Given the description of an element on the screen output the (x, y) to click on. 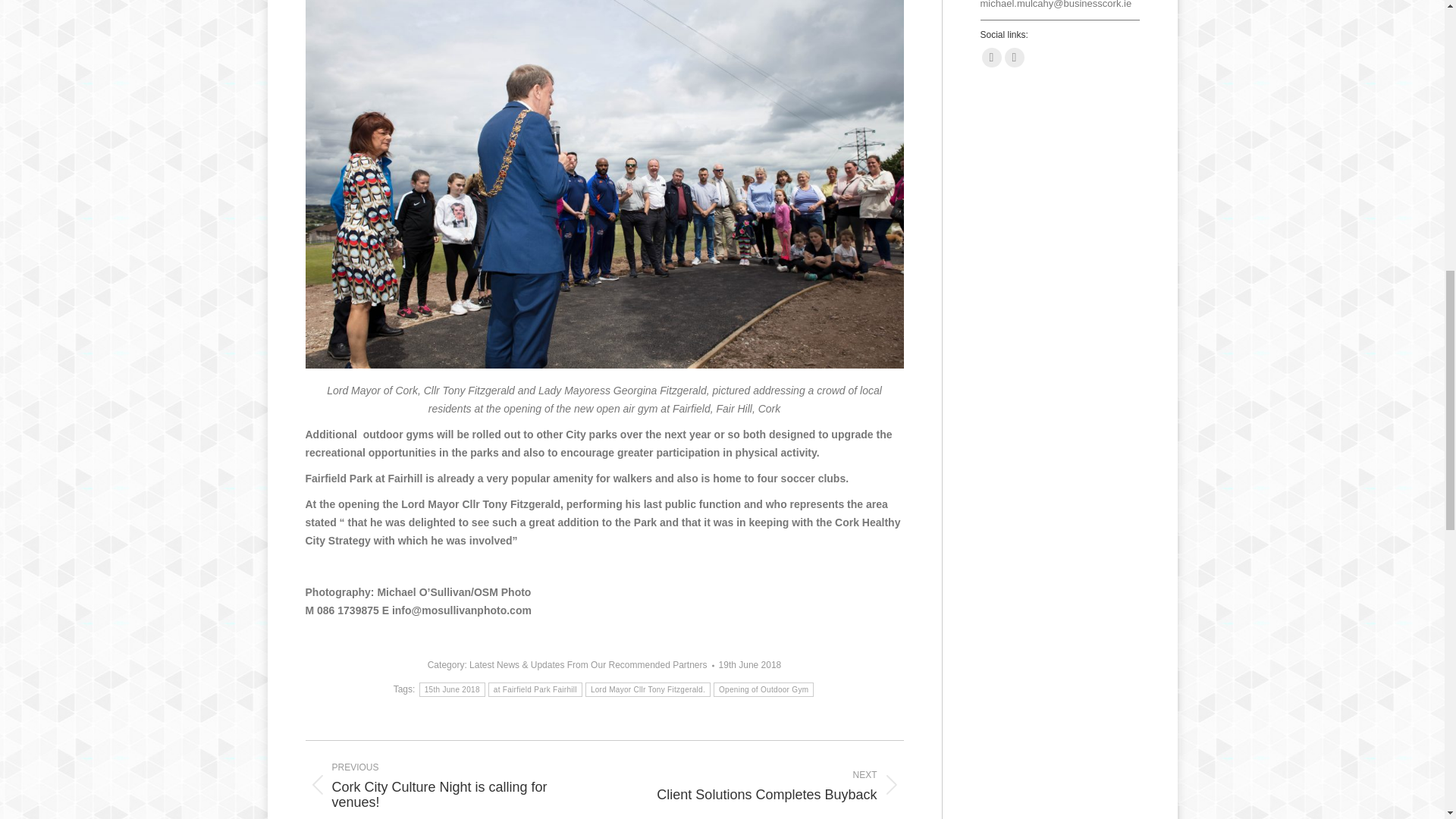
15th June 2018 (451, 689)
9:37 am (750, 665)
Facebook page opens in new window (991, 57)
Lord Mayor Cllr Tony Fitzgerald. (647, 689)
Opening of Outdoor Gym (763, 689)
19th June 2018 (750, 665)
at Fairfield Park Fairhill (765, 784)
X page opens in new window (534, 689)
